Given the description of an element on the screen output the (x, y) to click on. 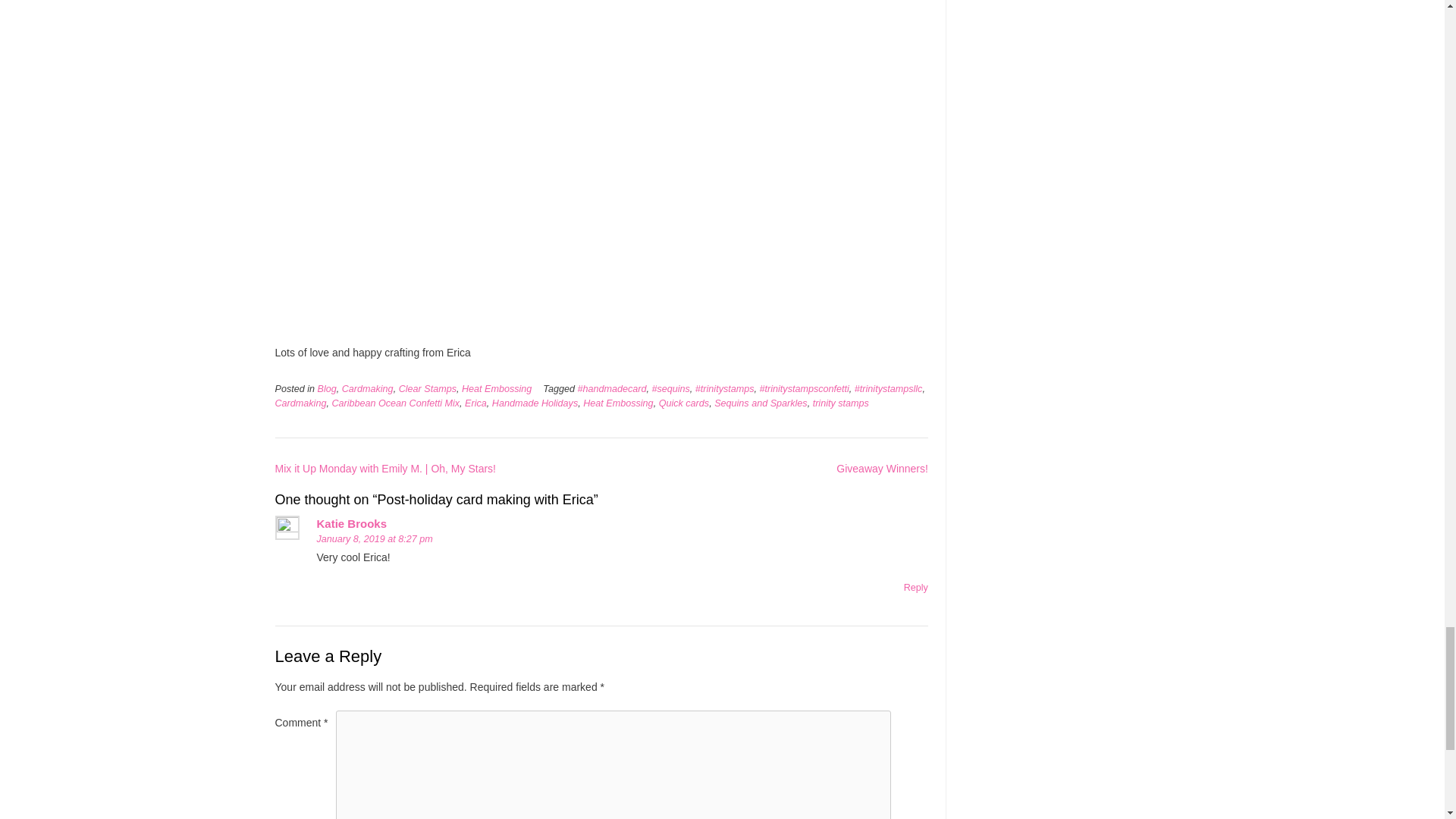
Cardmaking (367, 388)
trinity stamps (840, 403)
Erica (475, 403)
Quick cards (684, 403)
Heat Embossing (617, 403)
Blog (326, 388)
Reply (916, 587)
Sequins and Sparkles (761, 403)
Handmade Holidays (535, 403)
Caribbean Ocean Confetti Mix (395, 403)
